Given the description of an element on the screen output the (x, y) to click on. 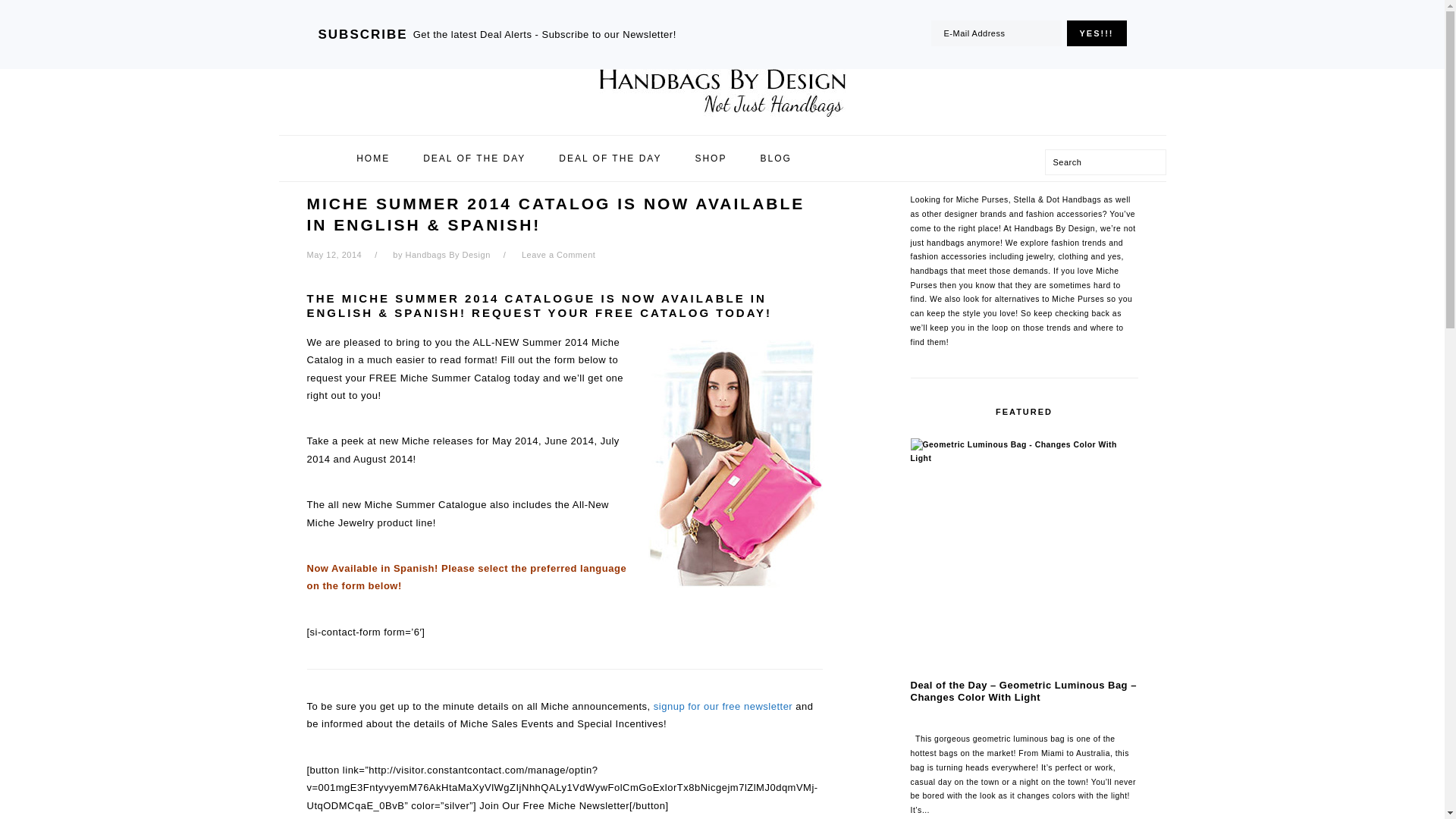
Yes!!! (1095, 32)
BLOG (775, 158)
Yes!!! (1095, 32)
signup for our free newsletter (722, 706)
Handbags By Design (446, 254)
SHOP (710, 158)
DEAL OF THE DAY (474, 158)
